Given the description of an element on the screen output the (x, y) to click on. 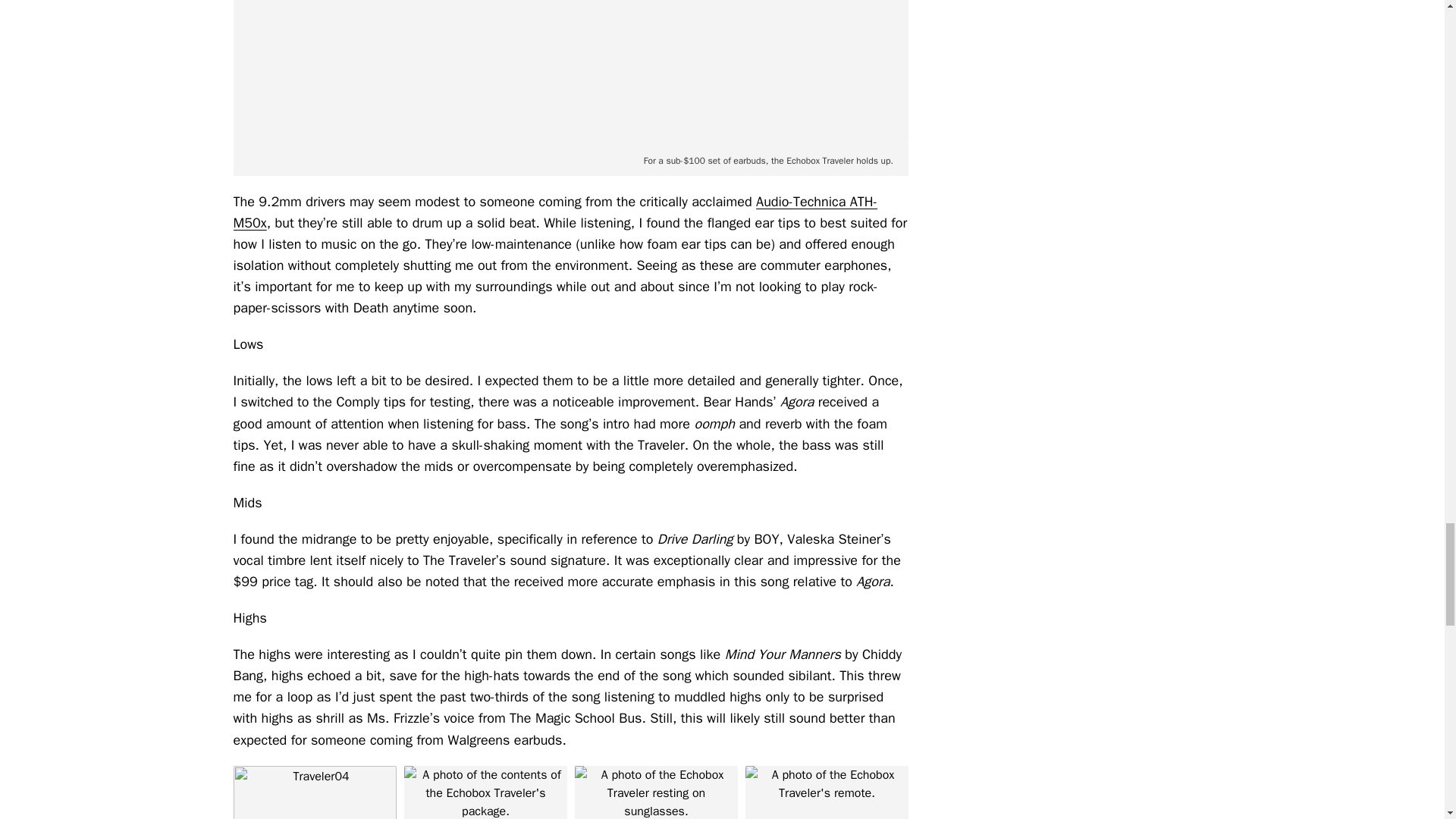
Traveler02 (825, 792)
Traveler01 (484, 792)
Traveler05 (656, 792)
Traveler04 (314, 792)
Traveler05 (570, 72)
Audio-Technica ATH-M50x (554, 211)
